Given the description of an element on the screen output the (x, y) to click on. 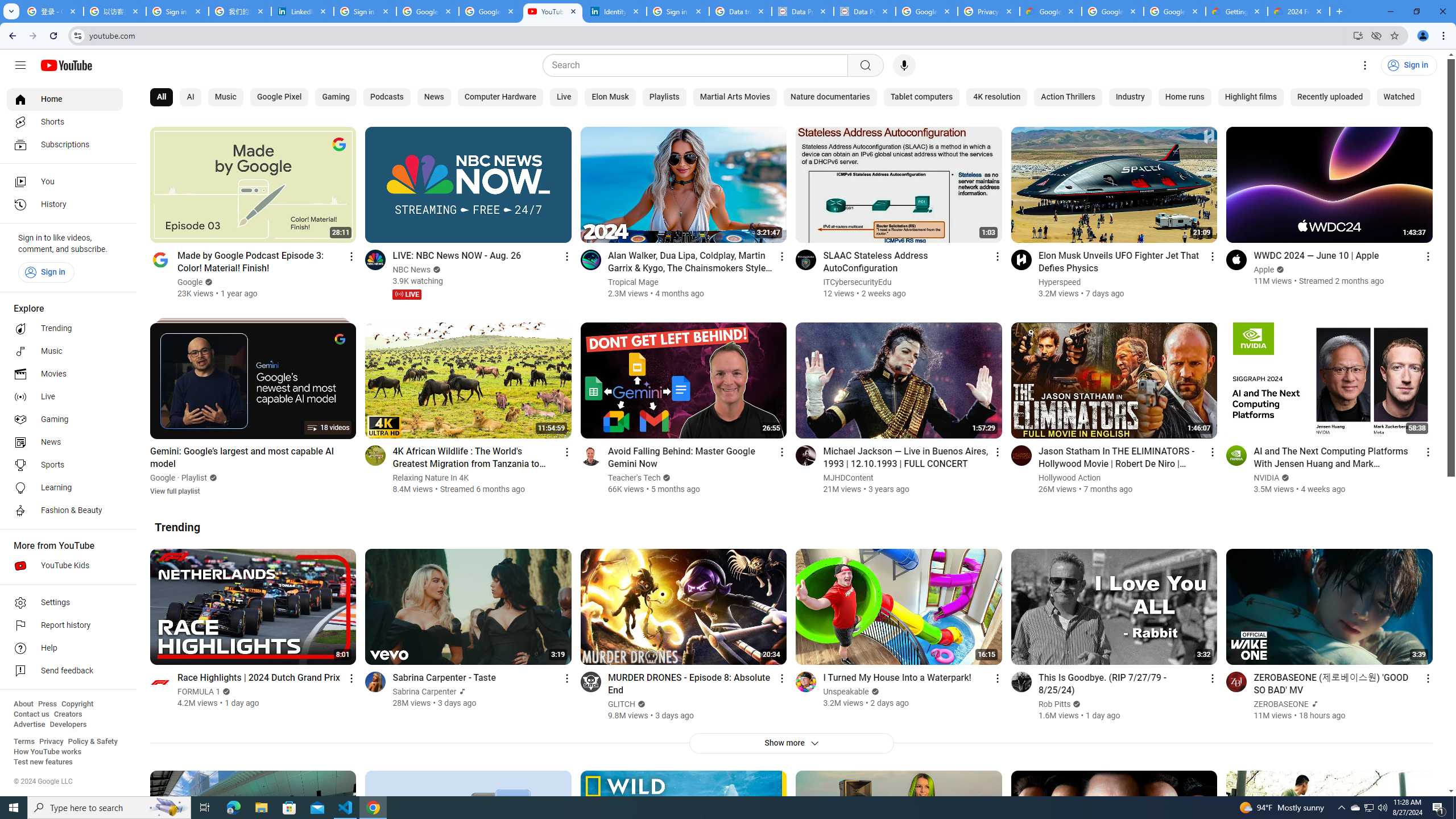
Sign in - Google Accounts (177, 11)
Trending (177, 526)
Report history (64, 625)
Show more (790, 742)
Unspeakable (846, 691)
News (64, 441)
Test new features (42, 761)
History (64, 204)
